Given the description of an element on the screen output the (x, y) to click on. 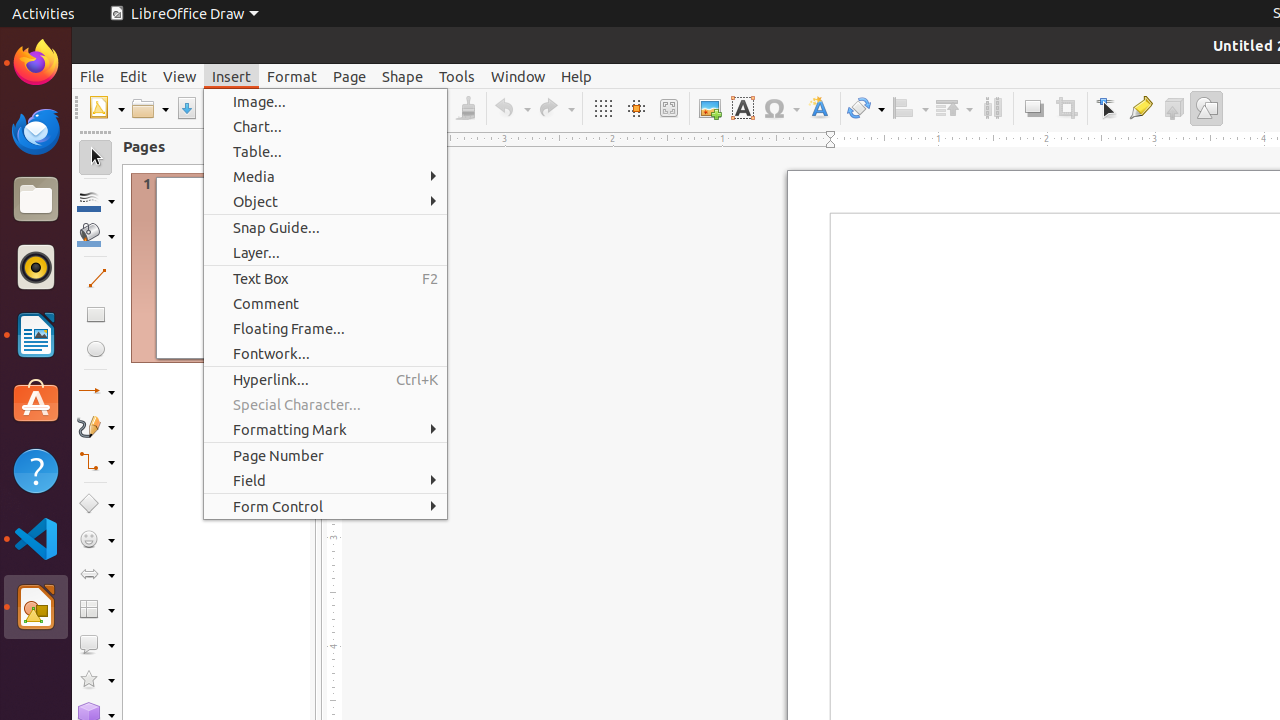
Select Element type: push-button (95, 157)
Visual Studio Code Element type: push-button (36, 538)
Crop Element type: push-button (1066, 108)
Flowchart Shapes Element type: push-button (96, 609)
Ellipse Element type: push-button (95, 348)
